Given the description of an element on the screen output the (x, y) to click on. 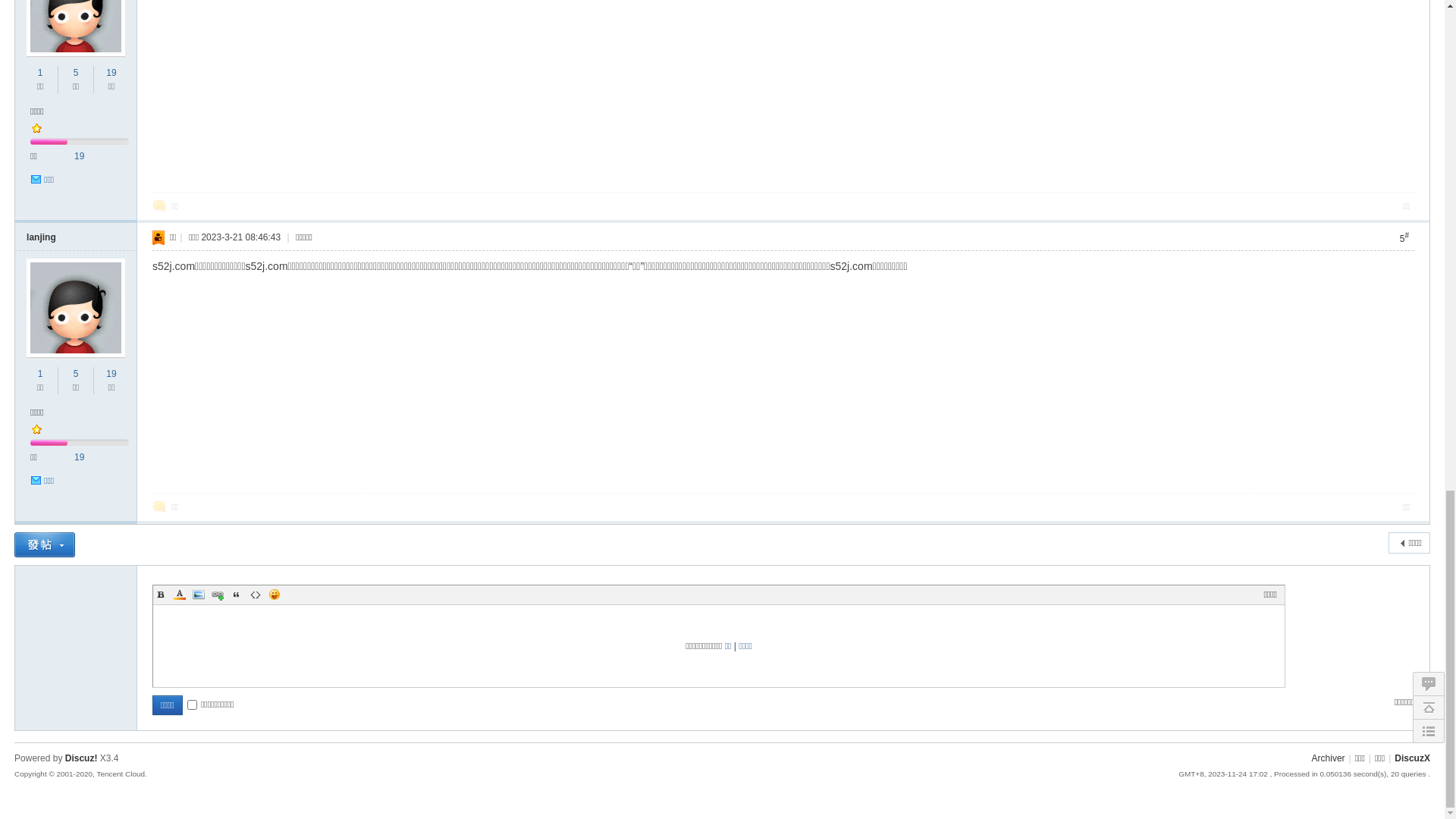
true Element type: text (395, 128)
5 Element type: text (75, 381)
19 Element type: text (111, 710)
1 Element type: text (40, 381)
19 Element type: text (111, 381)
19 Element type: text (79, 465)
19 Element type: text (79, 793)
lanjing Element type: text (41, 573)
5 Element type: text (75, 710)
lanjing Element type: text (41, 245)
Discuz! Board Element type: text (20, 156)
1 Element type: text (40, 710)
Discuz! Element type: text (78, 156)
x Element type: text (596, 347)
discuz Element type: text (473, 127)
Discuz! Board Element type: hover (63, 76)
